Given the description of an element on the screen output the (x, y) to click on. 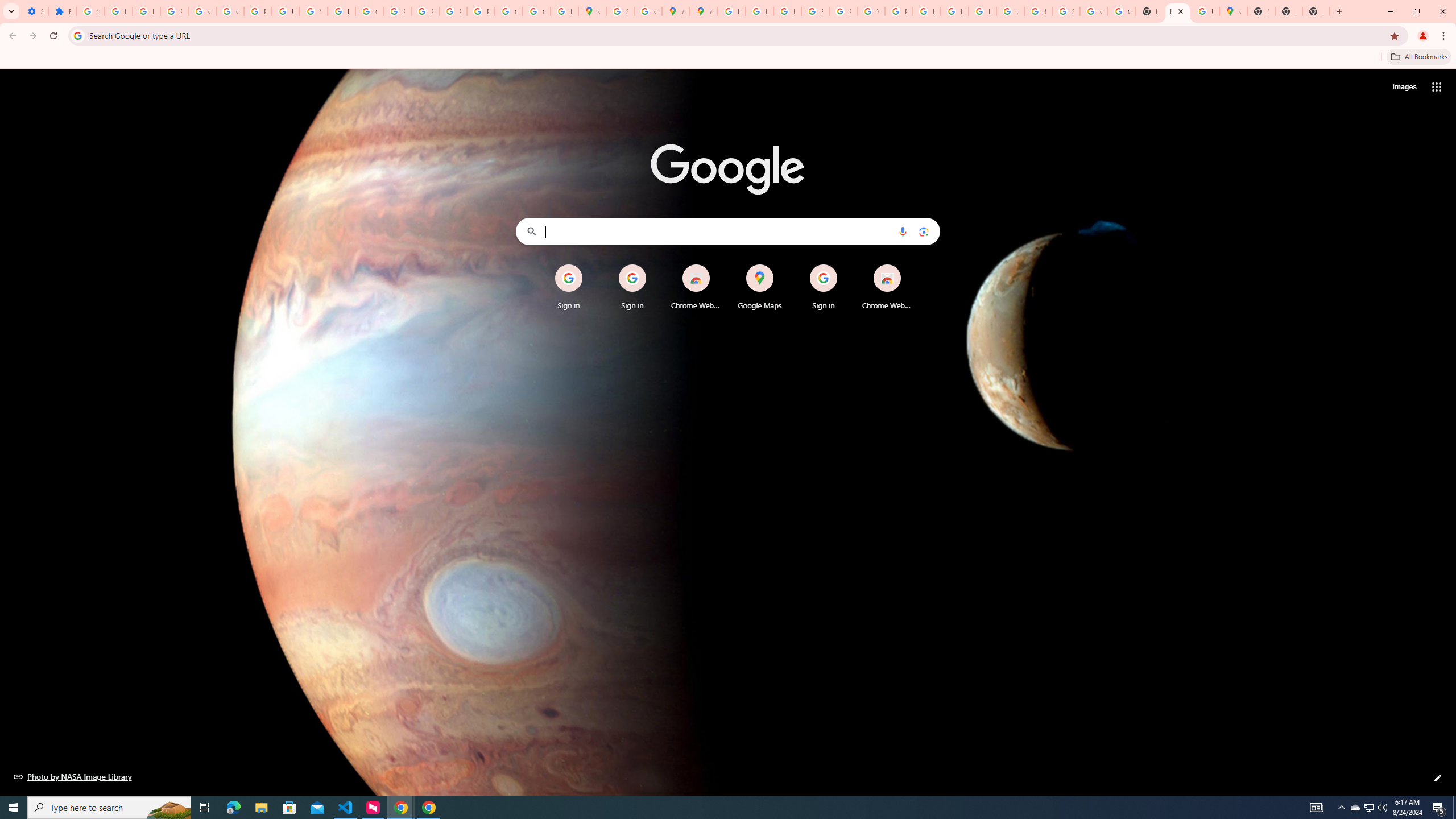
Search Google or type a URL (727, 230)
Google Maps (1233, 11)
New Tab (1260, 11)
Photo by NASA Image Library (72, 776)
Sign in - Google Accounts (1065, 11)
